Given the description of an element on the screen output the (x, y) to click on. 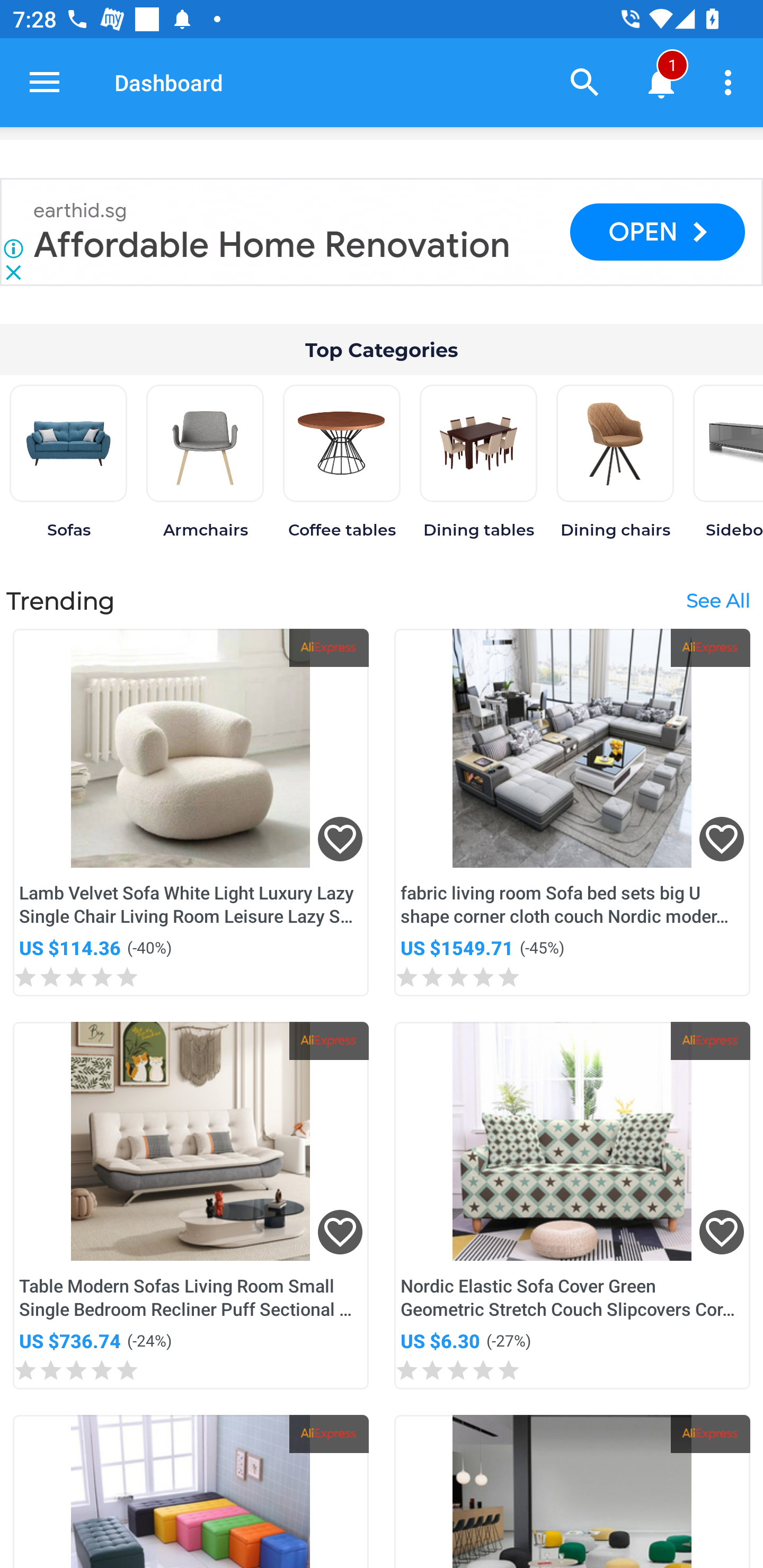
Open navigation drawer (44, 82)
Search (585, 81)
1 (661, 81)
More options (731, 81)
See All (717, 600)
